Given the description of an element on the screen output the (x, y) to click on. 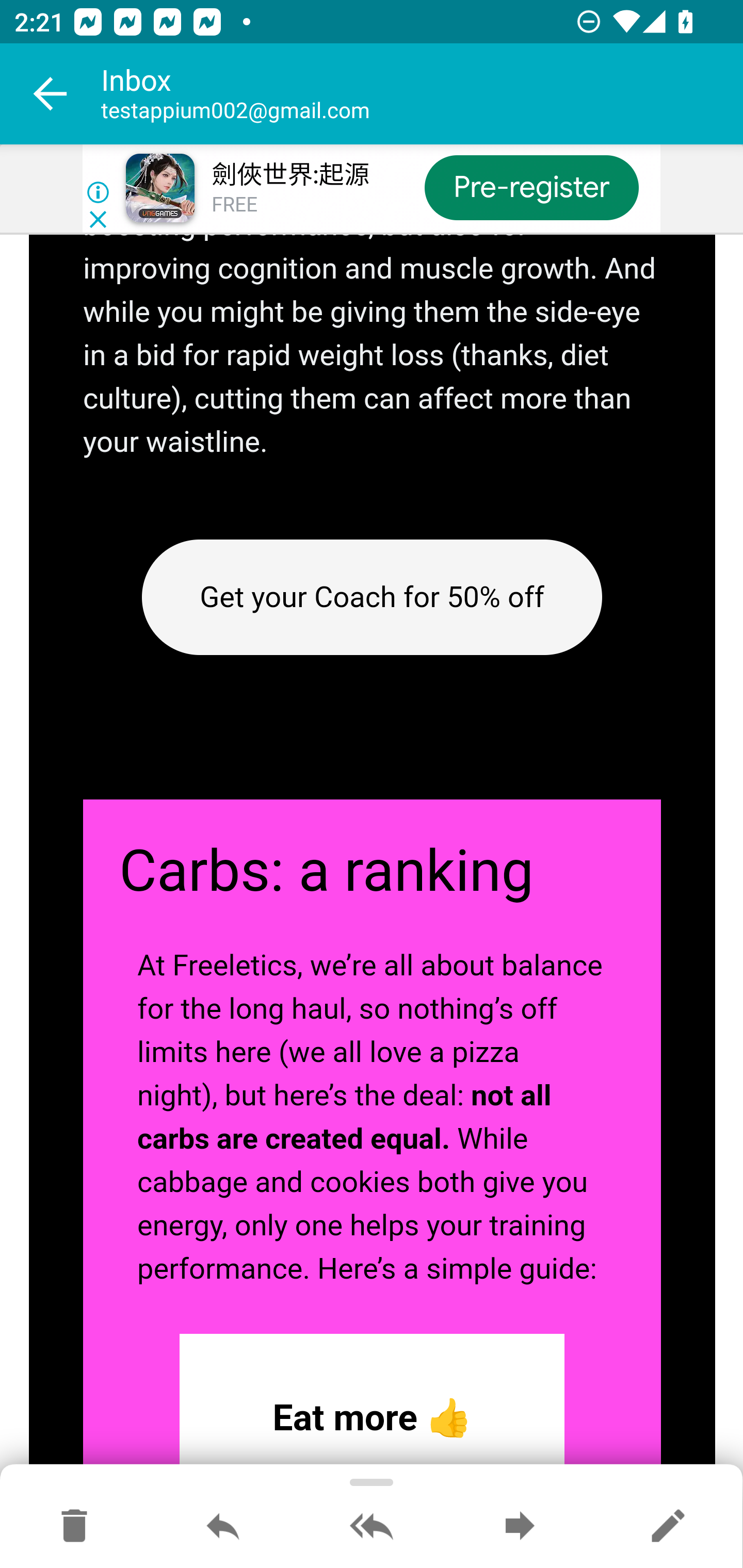
Navigate up (50, 93)
Inbox testappium002@gmail.com (422, 93)
Pre-register (530, 187)
劍俠世界:起源 (289, 175)
FREE (234, 204)
Get your Coach for 50% off (372, 597)
Move to Deleted (74, 1527)
Reply (222, 1527)
Reply all (371, 1527)
Forward (519, 1527)
Reply as new (667, 1527)
